Given the description of an element on the screen output the (x, y) to click on. 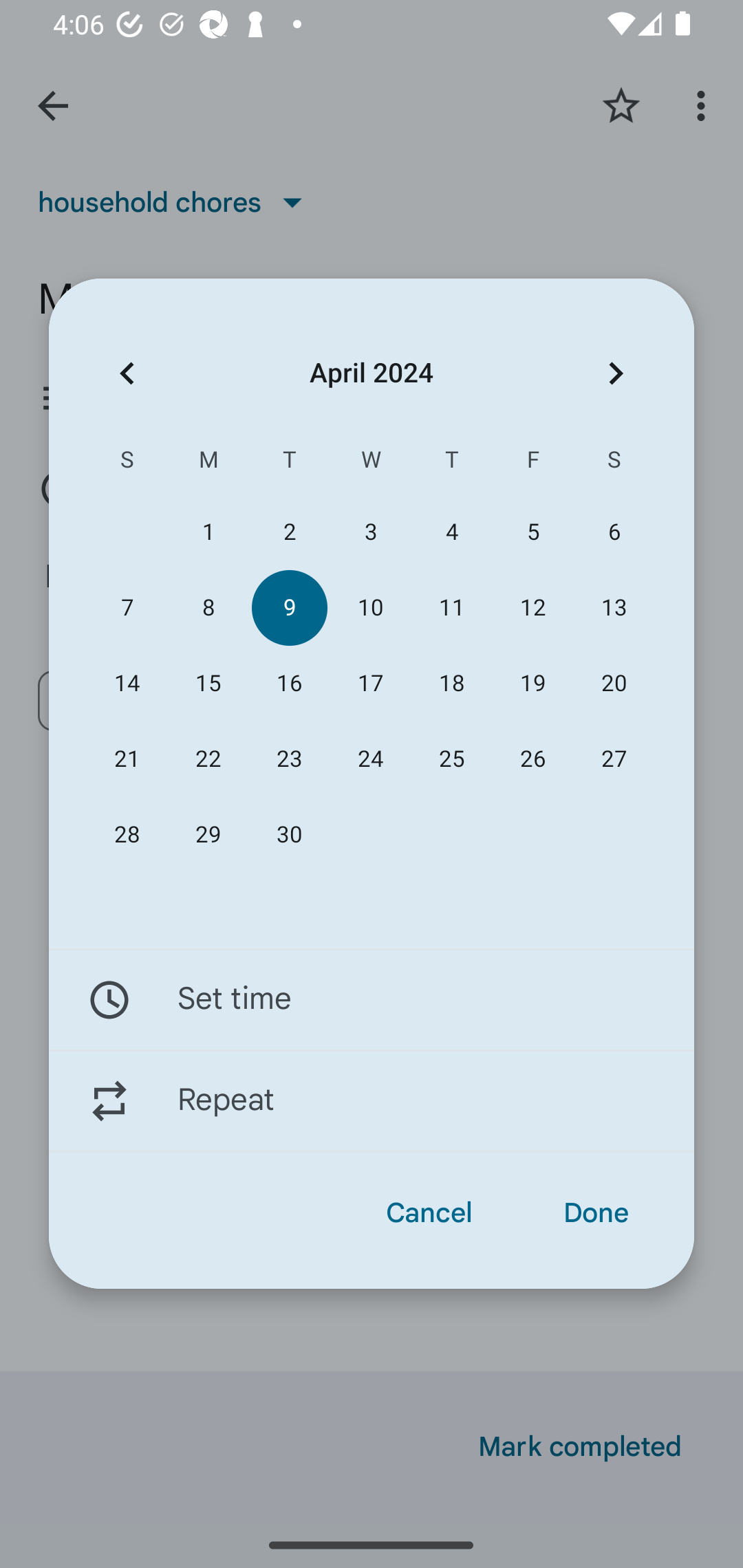
Previous month (126, 372)
Next month (615, 372)
1 01 April 2024 (207, 531)
2 02 April 2024 (288, 531)
3 03 April 2024 (370, 531)
4 04 April 2024 (451, 531)
5 05 April 2024 (532, 531)
6 06 April 2024 (613, 531)
7 07 April 2024 (126, 608)
8 08 April 2024 (207, 608)
9 09 April 2024 (288, 608)
10 10 April 2024 (370, 608)
11 11 April 2024 (451, 608)
12 12 April 2024 (532, 608)
13 13 April 2024 (613, 608)
14 14 April 2024 (126, 683)
15 15 April 2024 (207, 683)
16 16 April 2024 (288, 683)
17 17 April 2024 (370, 683)
18 18 April 2024 (451, 683)
19 19 April 2024 (532, 683)
20 20 April 2024 (613, 683)
21 21 April 2024 (126, 758)
22 22 April 2024 (207, 758)
23 23 April 2024 (288, 758)
24 24 April 2024 (370, 758)
25 25 April 2024 (451, 758)
26 26 April 2024 (532, 758)
27 27 April 2024 (613, 758)
28 28 April 2024 (126, 834)
29 29 April 2024 (207, 834)
30 30 April 2024 (288, 834)
Set time (371, 999)
Repeat (371, 1101)
Cancel (429, 1213)
Done (595, 1213)
